Given the description of an element on the screen output the (x, y) to click on. 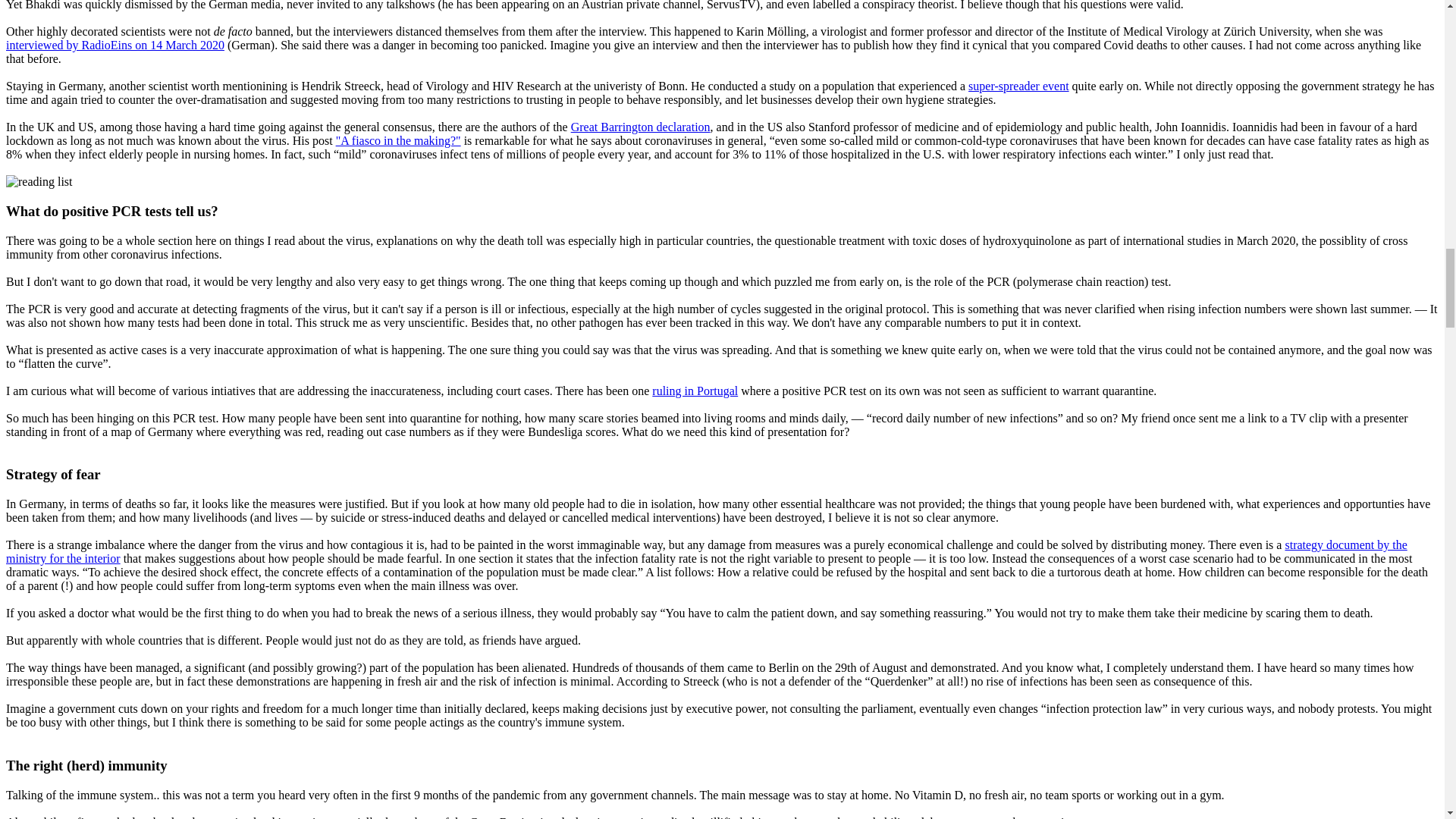
strategy document by the ministry for the interior (706, 551)
ruling in Portugal (695, 390)
Great Barrington declaration (640, 126)
super-spreader event (1018, 85)
"A fiasco in the making?" (398, 140)
interviewed by RadioEins on 14 March 2020 (114, 44)
